Given the description of an element on the screen output the (x, y) to click on. 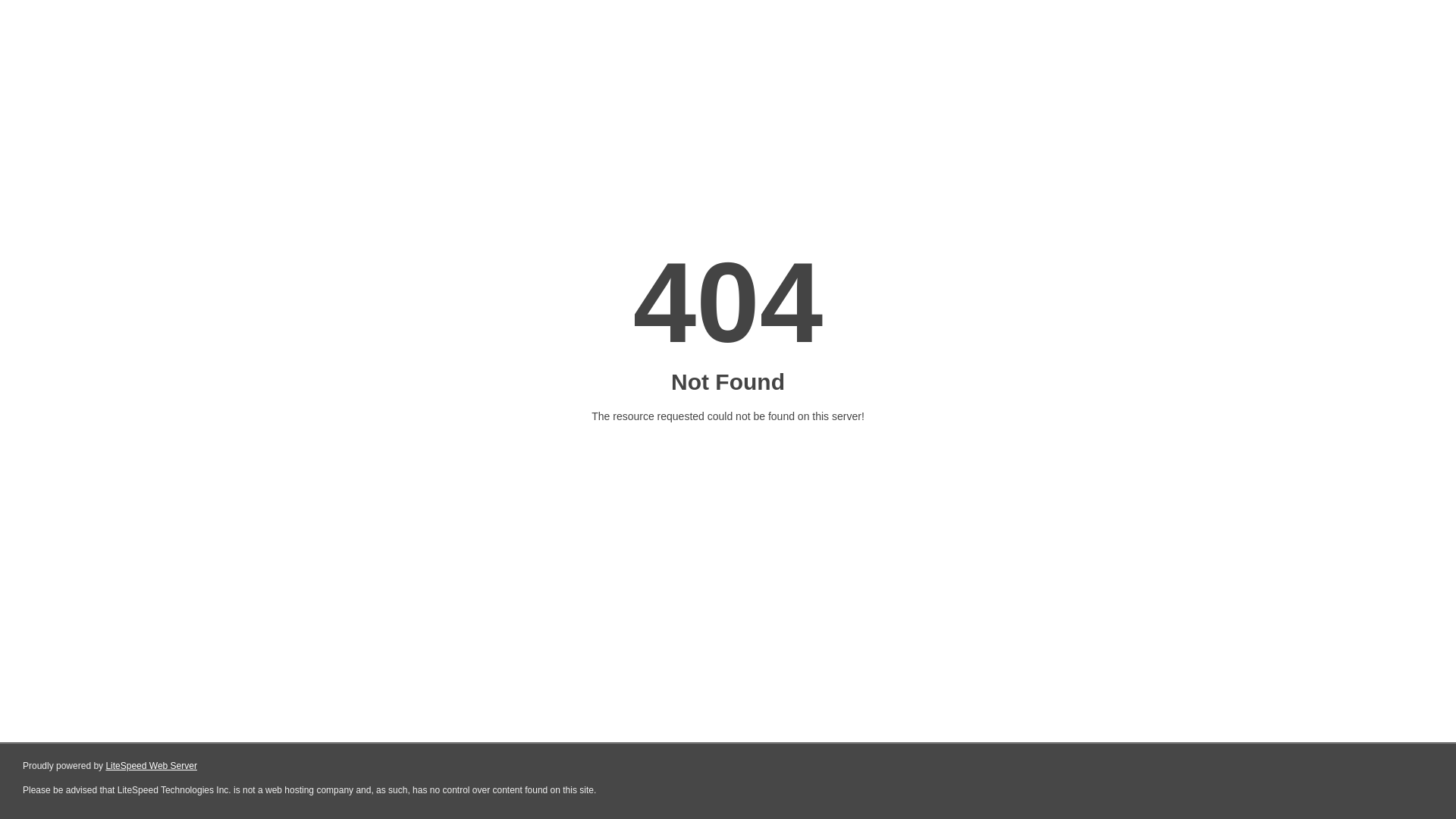
LiteSpeed Web Server Element type: text (151, 765)
